Given the description of an element on the screen output the (x, y) to click on. 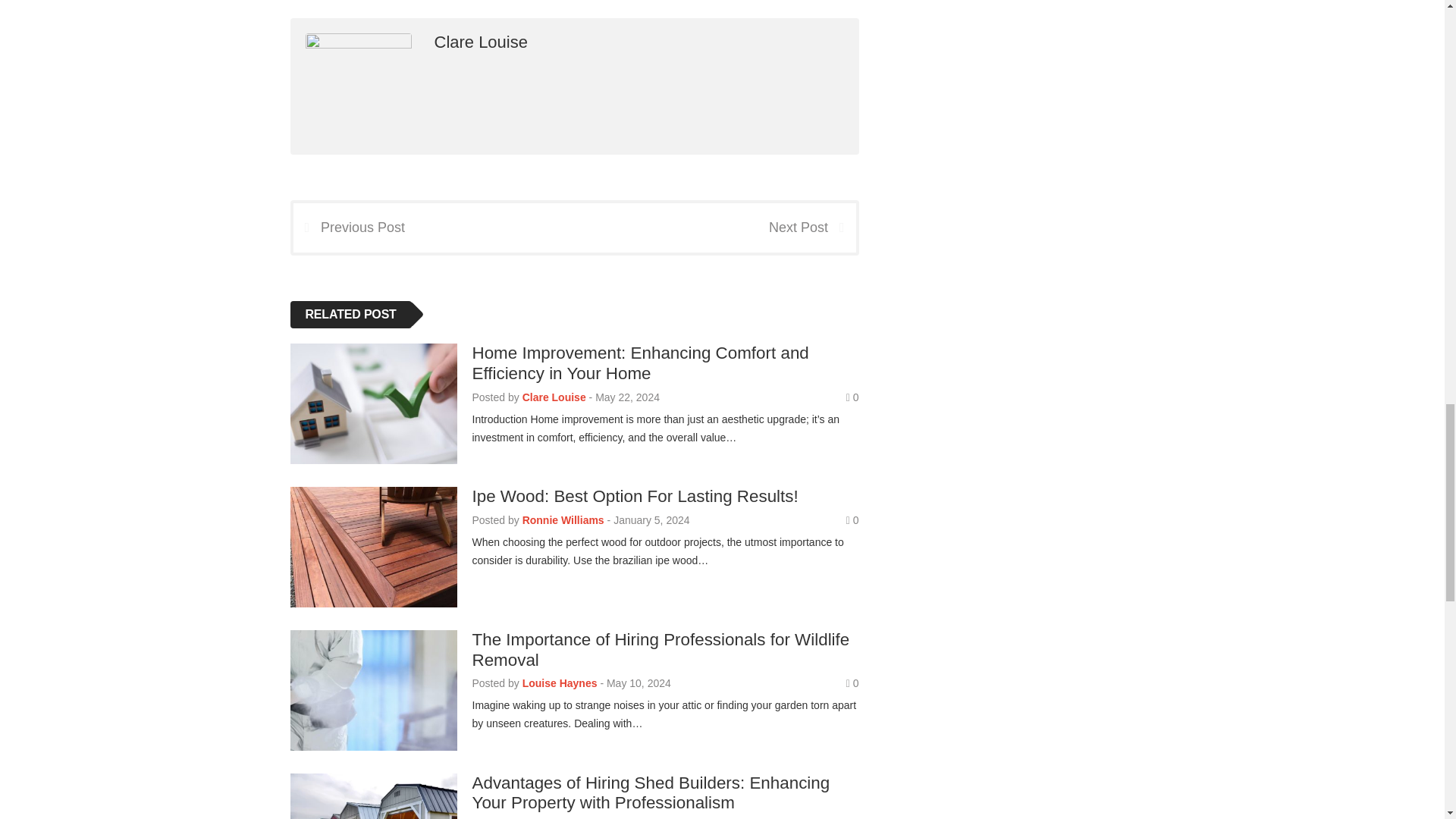
Clare Louise (480, 41)
Next Post (812, 227)
Previous Post (348, 227)
Posts by Clare Louise (554, 397)
Posts by Ronnie Williams (563, 520)
